Given the description of an element on the screen output the (x, y) to click on. 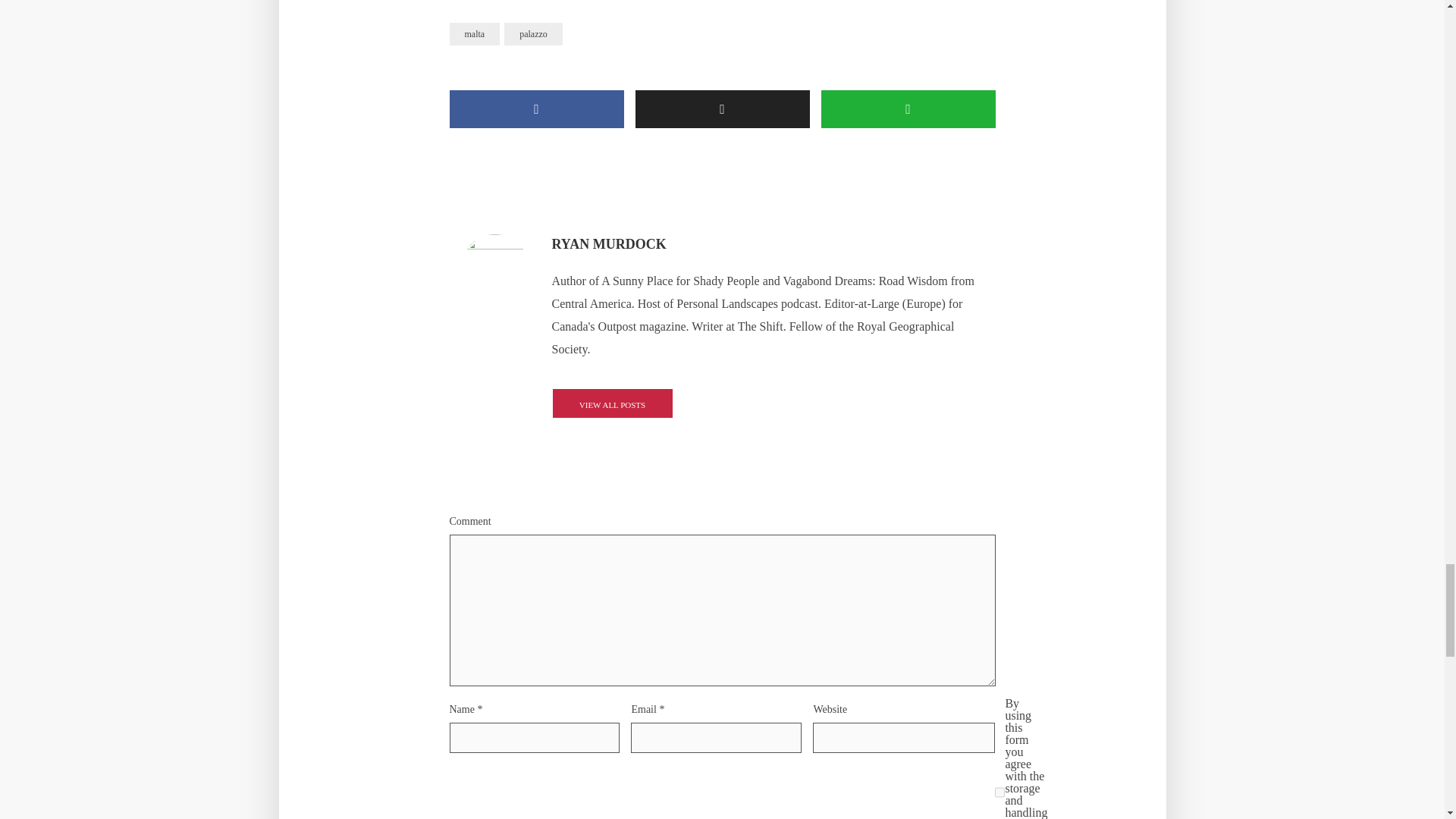
VIEW ALL POSTS (611, 403)
palazzo (532, 33)
malta (473, 33)
